Given the description of an element on the screen output the (x, y) to click on. 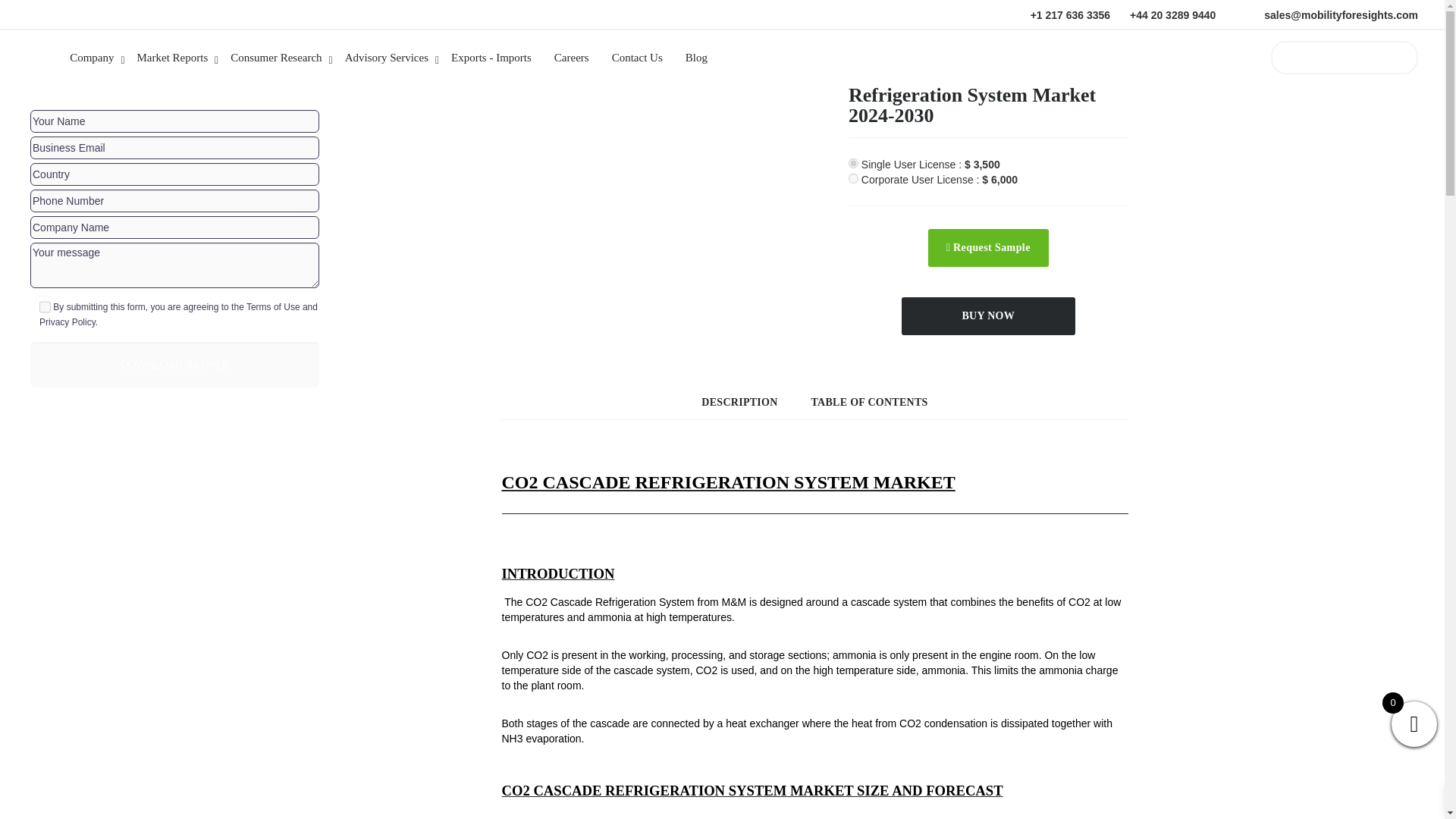
Market Reports (180, 59)
Company (98, 59)
DOWNLOAD SAMPLE (174, 364)
6000 (853, 178)
3500 (853, 163)
